Given the description of an element on the screen output the (x, y) to click on. 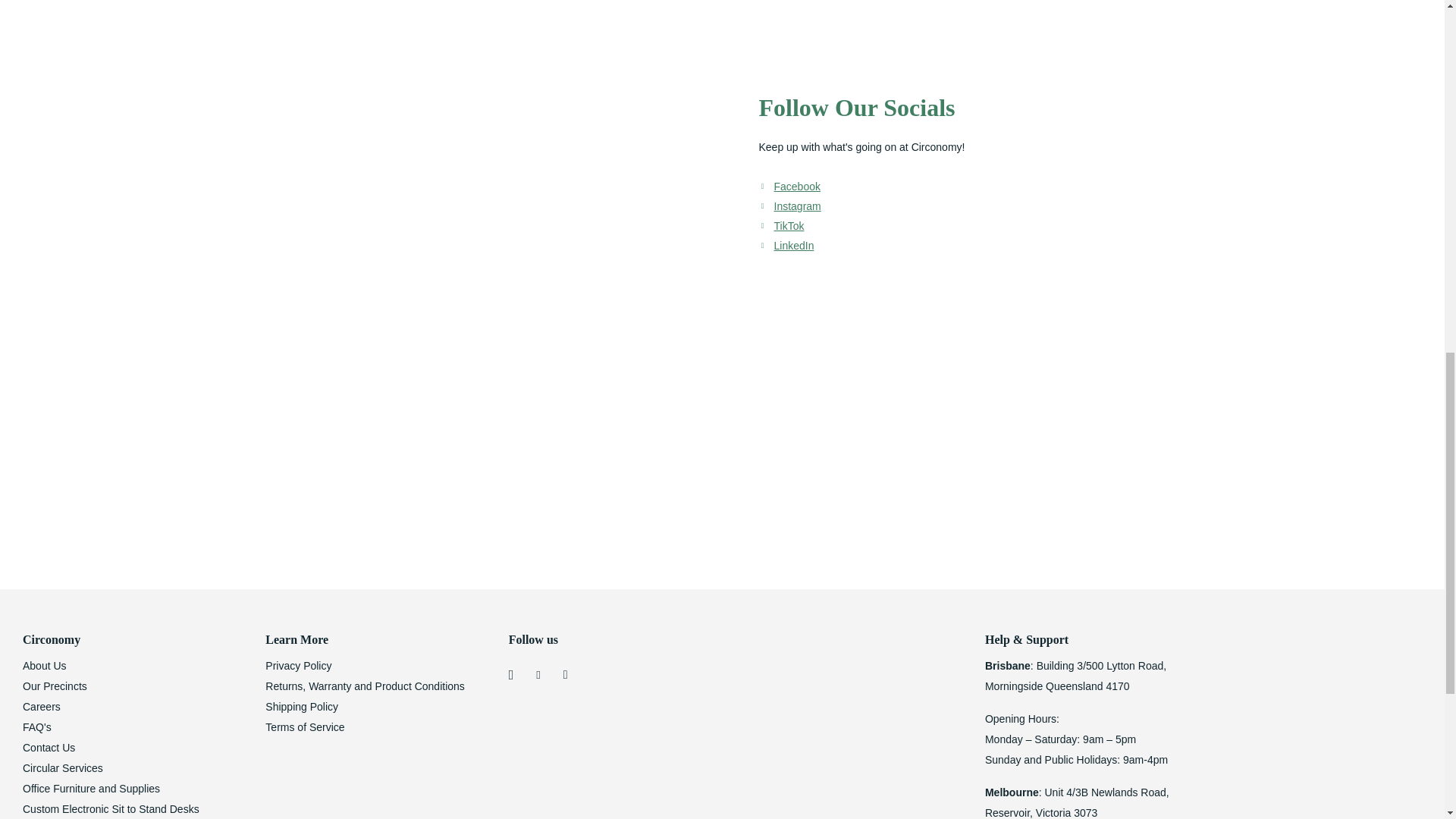
Custom Electronic Sit to Stand Desks (111, 808)
About Us (44, 665)
Circular Services (63, 767)
Shipping Policy (300, 706)
FAQ's (36, 727)
Instagram (797, 205)
TikTok (788, 225)
Contact Us (49, 747)
Facebook (796, 186)
Linkedin (793, 245)
